Given the description of an element on the screen output the (x, y) to click on. 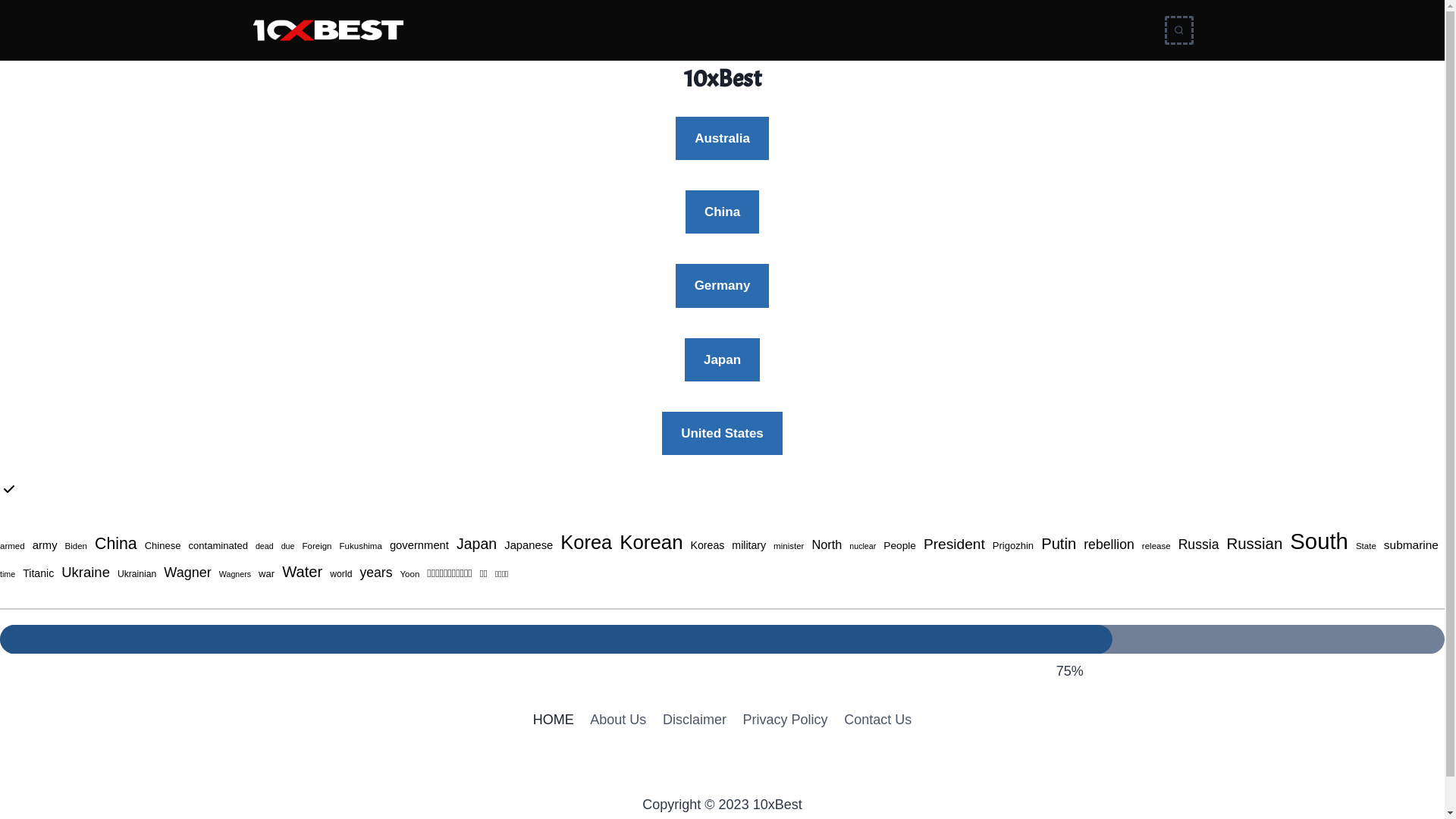
Ukraine Element type: text (85, 572)
China Element type: text (722, 211)
Wagners Element type: text (235, 573)
Disclaimer Element type: text (694, 720)
Japanese Element type: text (528, 545)
submarine Element type: text (1410, 545)
HOME Element type: text (553, 720)
Wagner Element type: text (186, 572)
Ukrainian Element type: text (136, 574)
Biden Element type: text (76, 545)
Russia Element type: text (1198, 544)
armed Element type: text (12, 545)
time Element type: text (7, 573)
Russian Element type: text (1254, 543)
Japan Element type: text (721, 359)
Fukushima Element type: text (360, 545)
nuclear Element type: text (862, 545)
Titanic Element type: text (37, 573)
years Element type: text (375, 572)
North Element type: text (826, 544)
Australia Element type: text (721, 138)
People Element type: text (899, 545)
military Element type: text (748, 545)
Privacy Policy Element type: text (785, 720)
Contact Us Element type: text (877, 720)
Foreign Element type: text (316, 545)
rebellion Element type: text (1108, 544)
Germany Element type: text (722, 285)
minister Element type: text (788, 545)
Water Element type: text (302, 571)
State Element type: text (1365, 545)
President Element type: text (954, 544)
government Element type: text (418, 545)
Prigozhin Element type: text (1012, 546)
China Element type: text (115, 543)
South Element type: text (1318, 541)
dead Element type: text (264, 545)
Chinese Element type: text (162, 546)
contaminated Element type: text (217, 546)
army Element type: text (44, 545)
Korean Element type: text (650, 542)
world Element type: text (340, 574)
Putin Element type: text (1058, 543)
Japan Element type: text (476, 543)
About Us Element type: text (618, 720)
war Element type: text (266, 574)
release Element type: text (1156, 545)
10xBest Element type: text (722, 78)
Korea Element type: text (585, 542)
due Element type: text (287, 545)
Koreas Element type: text (707, 545)
United States Element type: text (722, 433)
Yoon Element type: text (410, 573)
